Given the description of an element on the screen output the (x, y) to click on. 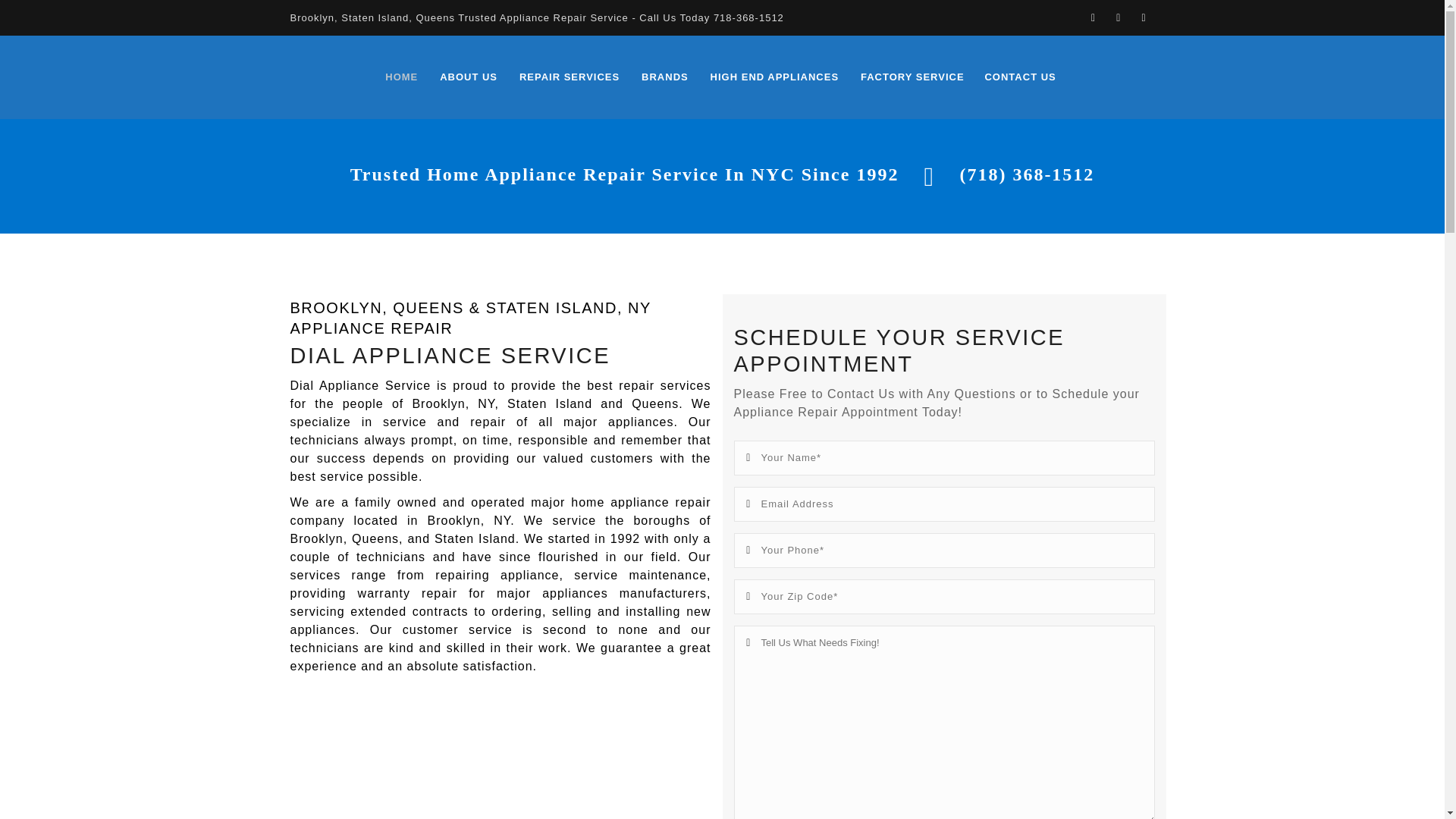
HIGH END APPLIANCES (774, 77)
FACTORY SERVICE (911, 77)
REPAIR SERVICES (569, 77)
